Given the description of an element on the screen output the (x, y) to click on. 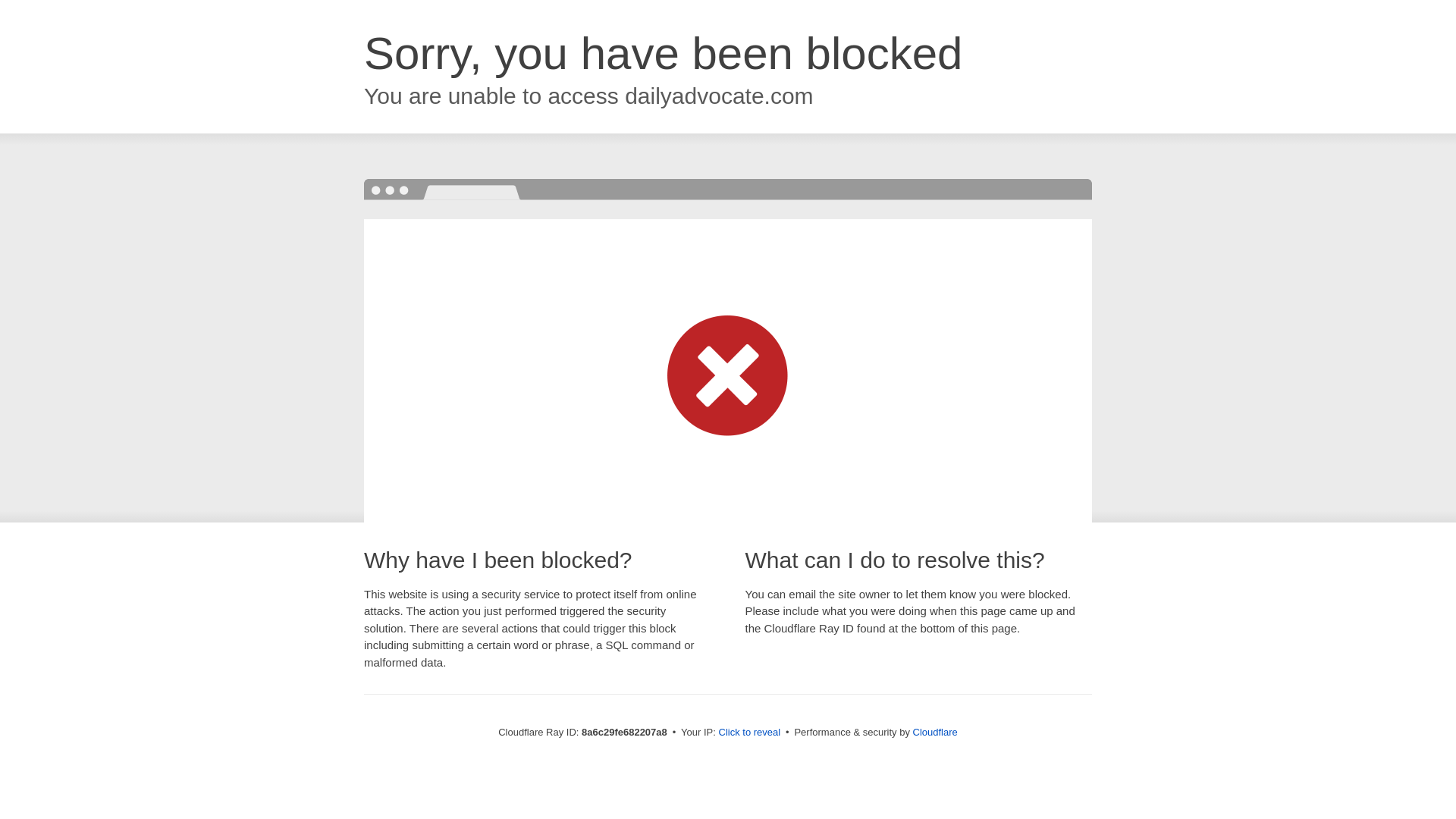
Cloudflare (935, 731)
Click to reveal (749, 732)
